Given the description of an element on the screen output the (x, y) to click on. 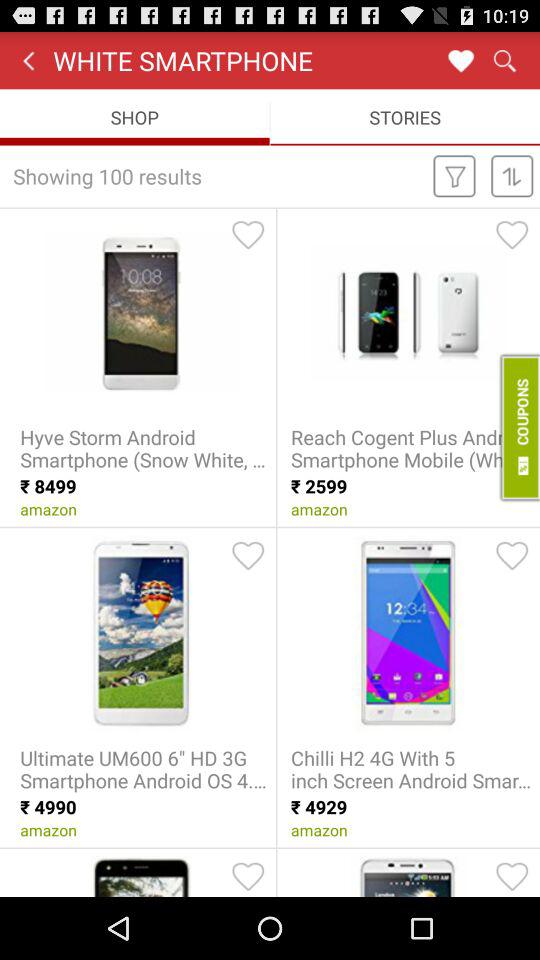
coupons (518, 427)
